Given the description of an element on the screen output the (x, y) to click on. 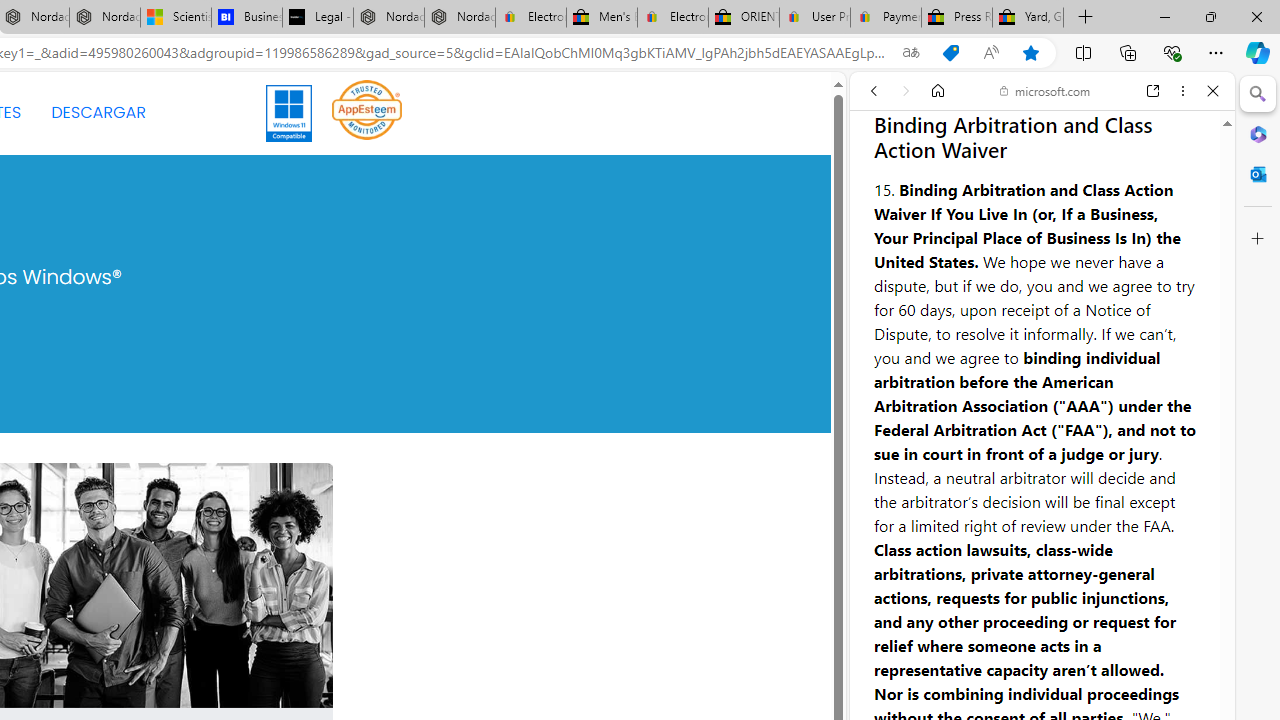
Outlook (1258, 174)
Electronics, Cars, Fashion, Collectibles & More | eBay (672, 17)
Nordace - Summer Adventures 2024 (388, 17)
Microsoft 365 (1258, 133)
Show translate options (910, 53)
Press Room - eBay Inc. (956, 17)
Open link in new tab (1153, 91)
Web scope (882, 180)
Payments Terms of Use | eBay.com (886, 17)
